Given the description of an element on the screen output the (x, y) to click on. 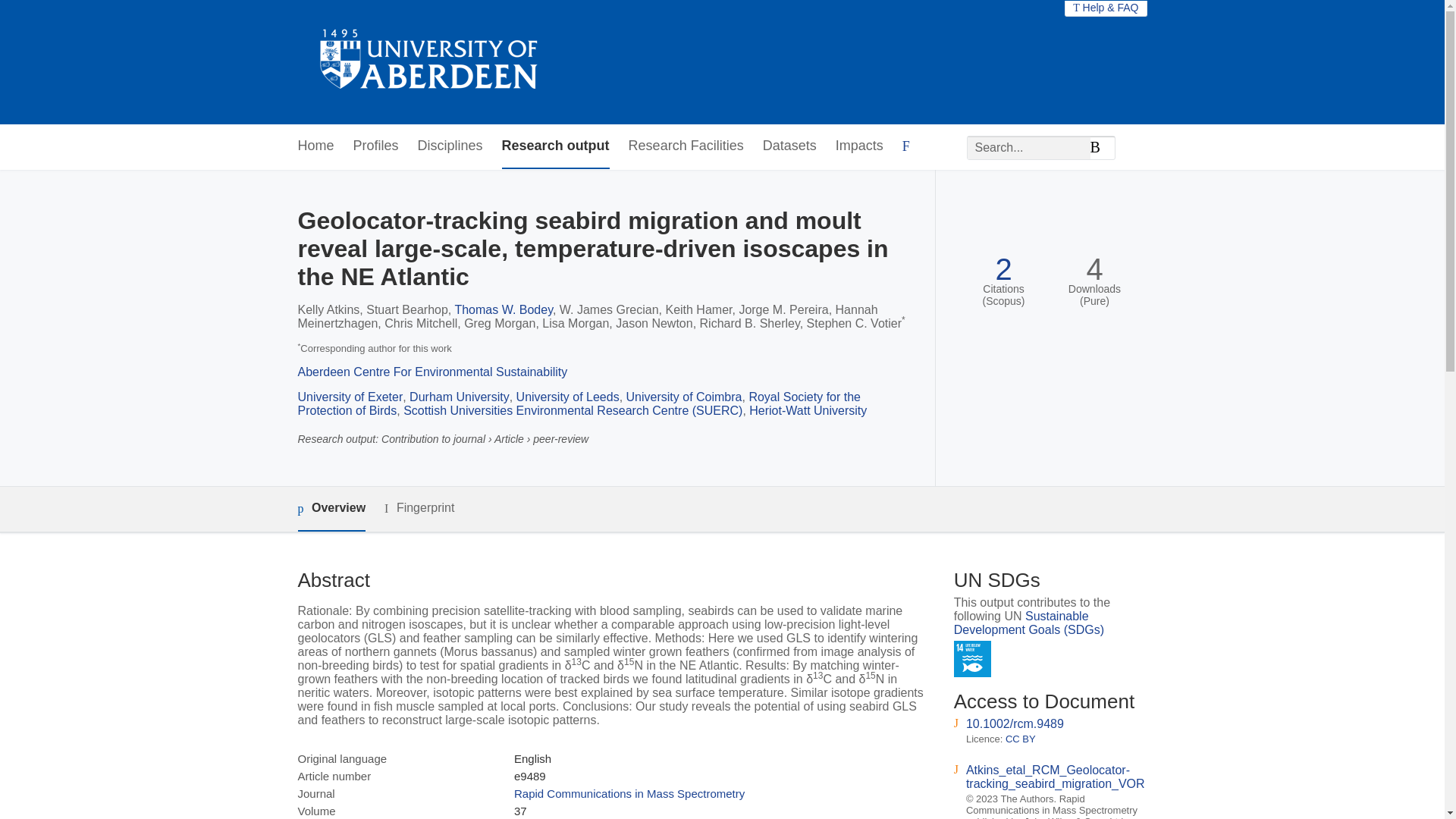
Disciplines (450, 146)
Aberdeen Centre For Environmental Sustainability (432, 371)
Durham University (459, 396)
The University of Aberdeen Research Portal Home (429, 61)
Research Facilities (686, 146)
CC BY (1020, 738)
University of Leeds (568, 396)
University of Exeter (350, 396)
Research output (556, 146)
Royal Society for the Protection of Birds (578, 403)
